Given the description of an element on the screen output the (x, y) to click on. 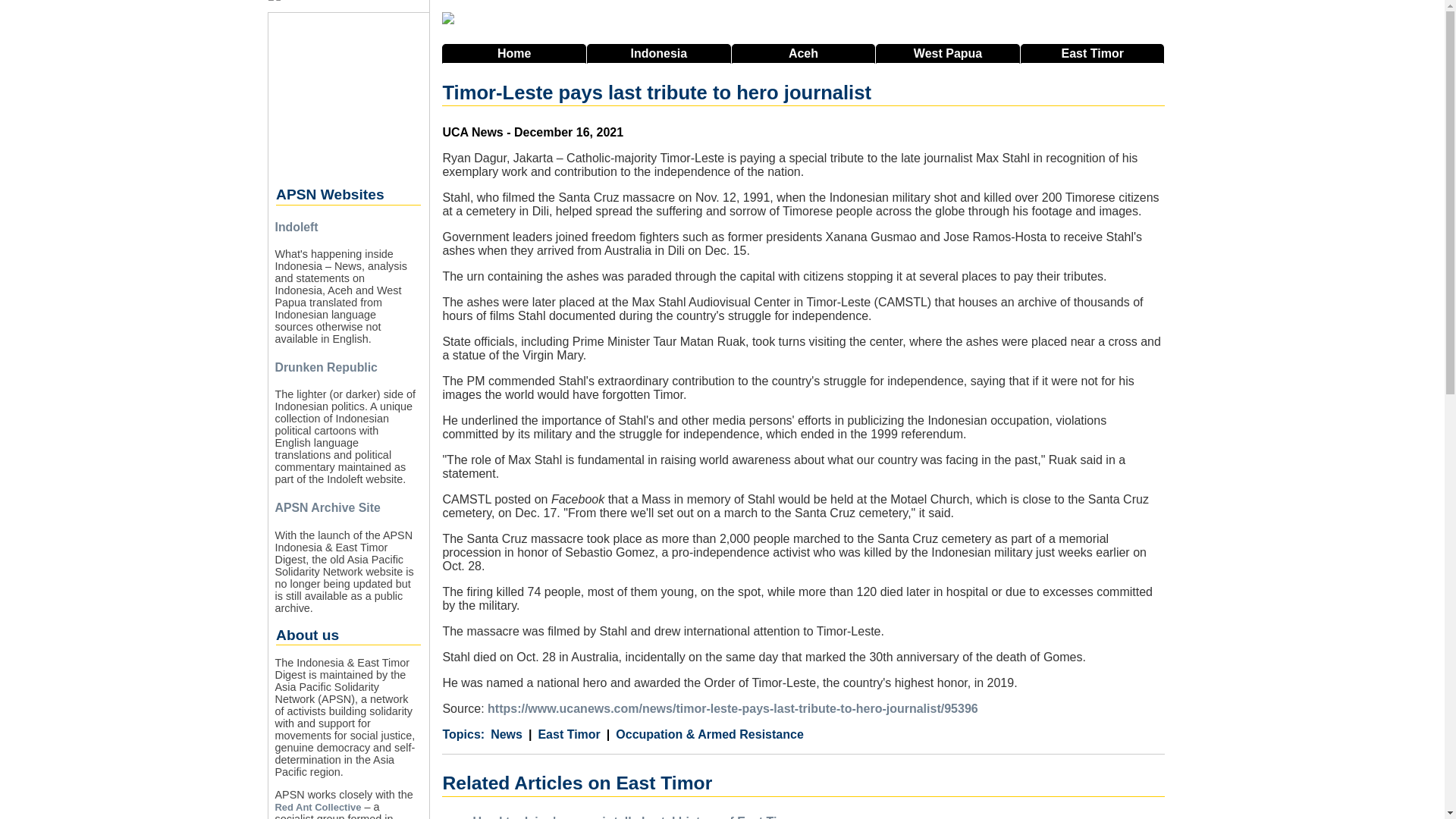
Used to dying' - memoir tells brutal history of East Timor (635, 816)
News (506, 735)
Home (514, 53)
East Timor (563, 735)
Indoleft (296, 226)
West Papua (948, 53)
Indonesia (658, 53)
Drunken Republic (326, 367)
Aceh (804, 53)
